Given the description of an element on the screen output the (x, y) to click on. 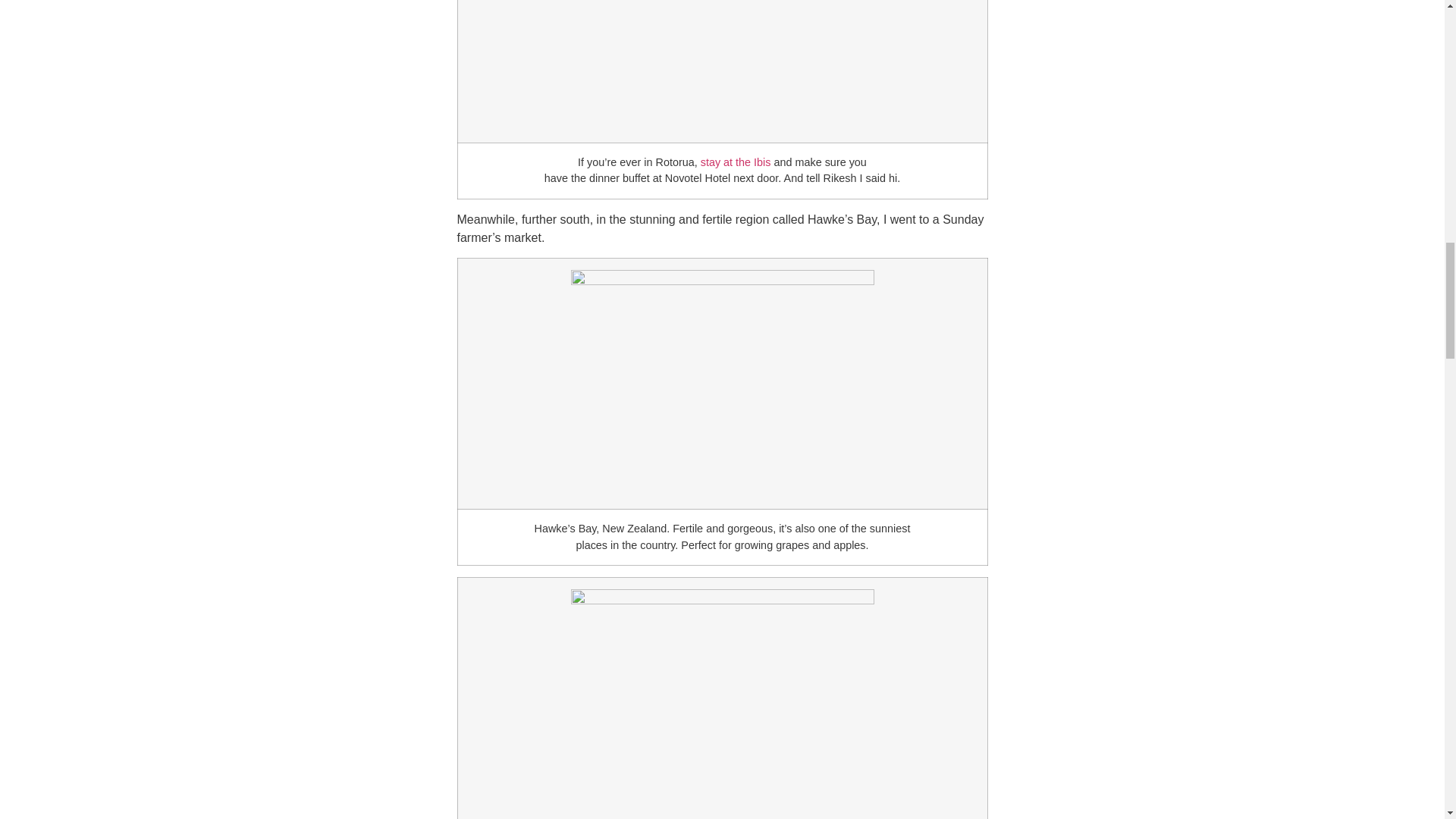
stay at the Ibis (735, 162)
